Given the description of an element on the screen output the (x, y) to click on. 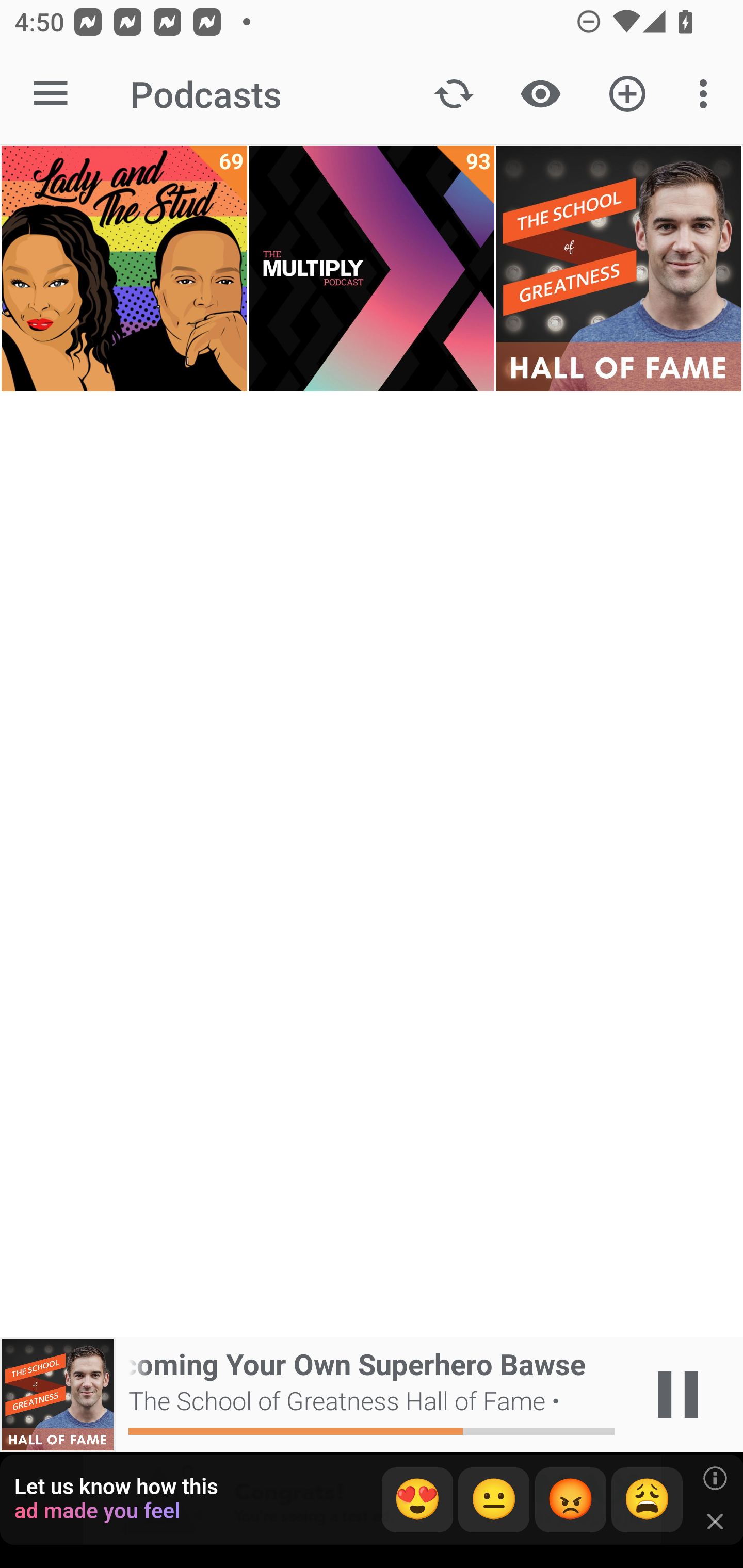
Open navigation sidebar (50, 93)
Update (453, 93)
Show / Hide played content (540, 93)
Add new Podcast (626, 93)
More options (706, 93)
Lady and The Stud 69 (124, 268)
The Multiply Podcast 93 (371, 268)
The School of Greatness Hall of Fame (618, 268)
Play / Pause (677, 1394)
app-monetization (371, 1500)
😍 (416, 1499)
😐 (493, 1499)
😡 (570, 1499)
😩 (647, 1499)
